Given the description of an element on the screen output the (x, y) to click on. 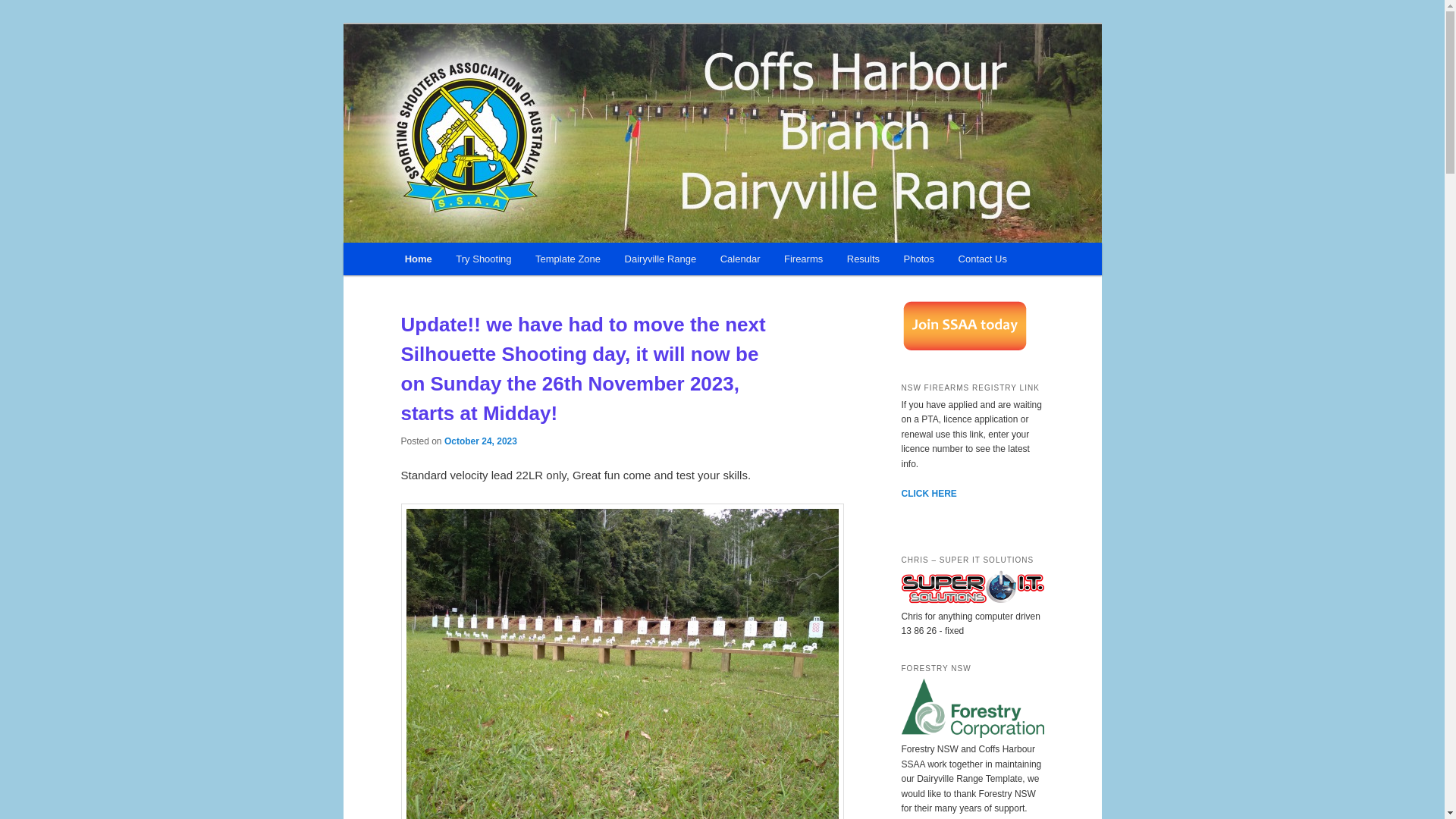
Calendar Element type: text (739, 258)
CLICK HERE Element type: text (928, 493)
Skip to primary content Element type: text (472, 261)
Results Element type: text (862, 258)
Skip to secondary content Element type: text (479, 261)
Contact Us Element type: text (982, 258)
Home Element type: text (418, 258)
Template Zone Element type: text (567, 258)
Try Shooting Element type: text (484, 258)
Photos Element type: text (918, 258)
Dairyville Range Element type: text (660, 258)
October 24, 2023 Element type: text (480, 440)
Forestry NSW  Element type: hover (971, 734)
Firearms Element type: text (802, 258)
